Given the description of an element on the screen output the (x, y) to click on. 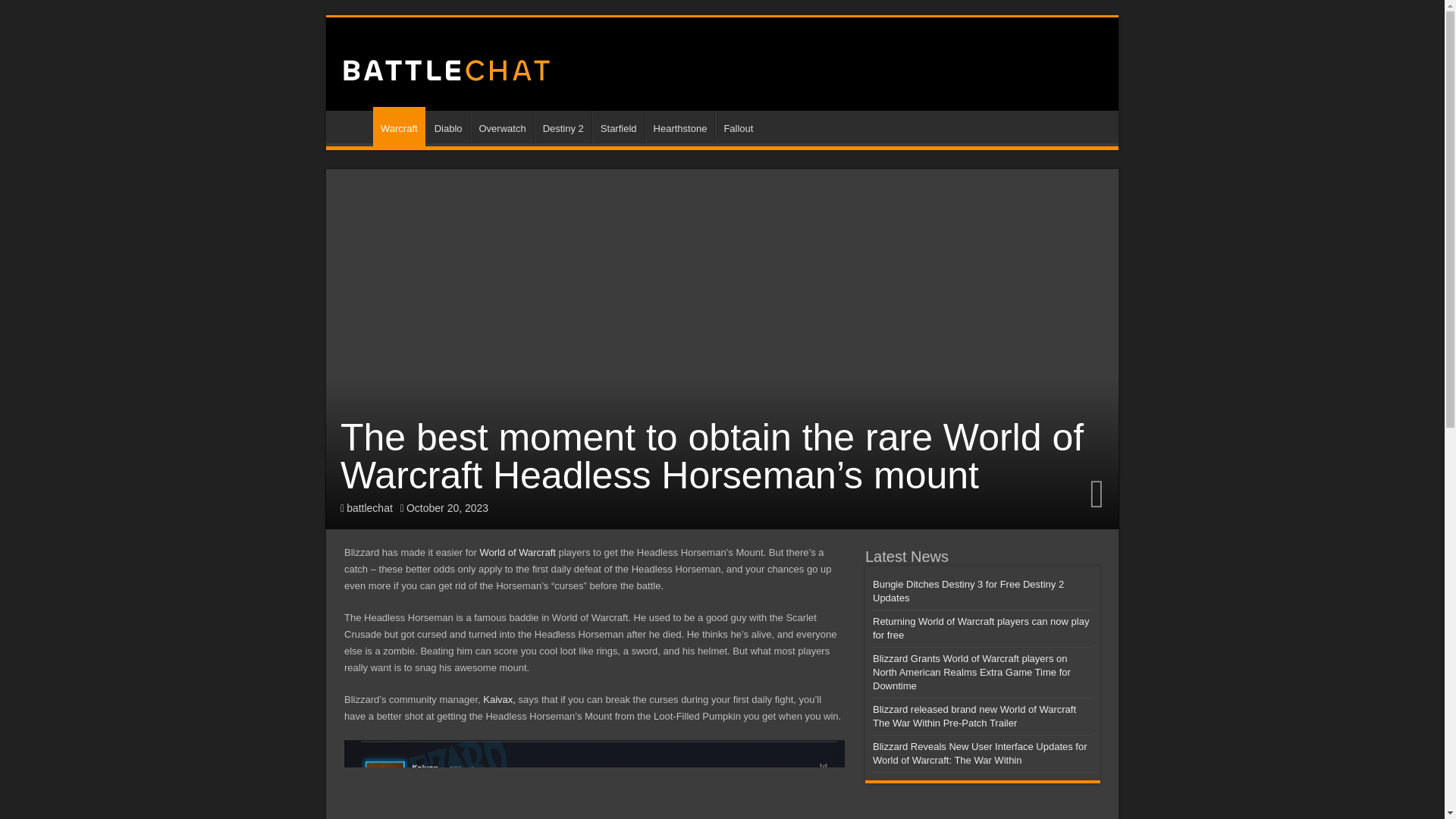
Overwatch (501, 126)
Returning World of Warcraft players can now play for free (980, 627)
Fallout (737, 126)
Battlechat (445, 66)
Kaivax, (499, 699)
Hearthstone (679, 126)
battlechat (369, 508)
Starfield (618, 126)
